Given the description of an element on the screen output the (x, y) to click on. 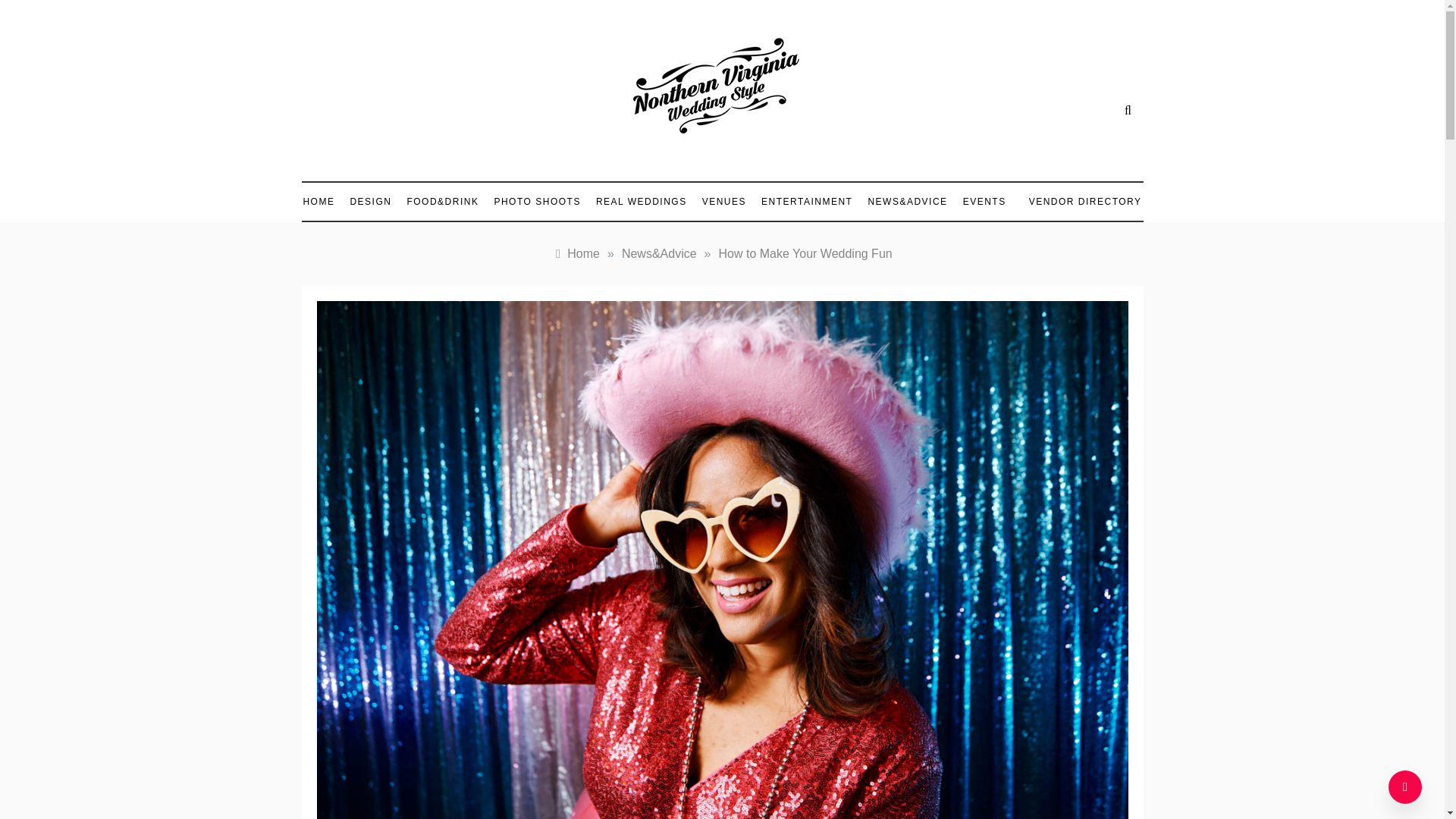
HOME (322, 201)
VENUES (724, 201)
Home (575, 253)
ENTERTAINMENT (807, 201)
PHOTO SHOOTS (537, 201)
How to Make Your Wedding Fun (805, 253)
EVENTS (984, 201)
REAL WEDDINGS (641, 201)
VENDOR DIRECTORY (1077, 201)
